Given the description of an element on the screen output the (x, y) to click on. 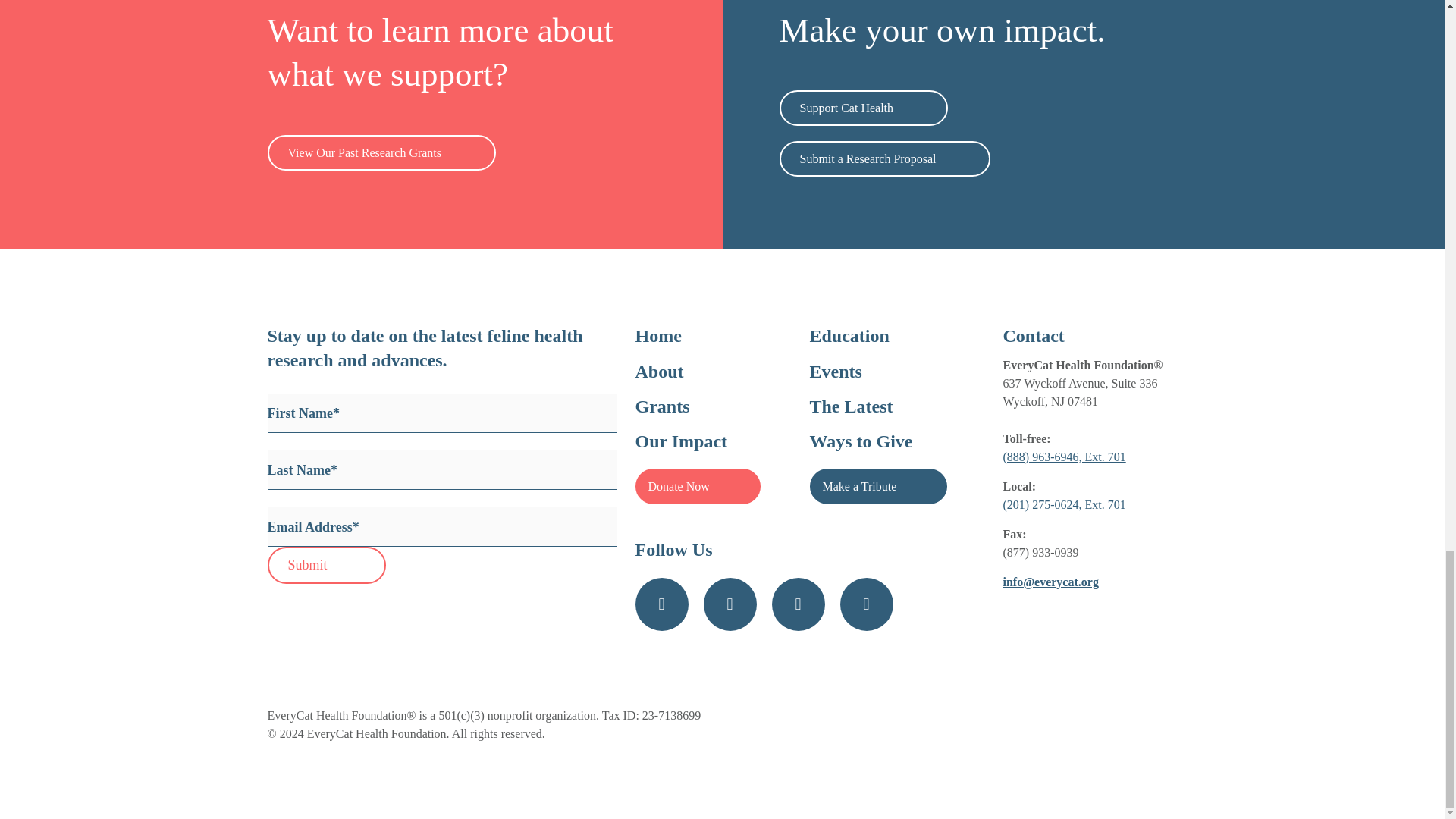
Link to Instagram (730, 604)
Link to View Our Past Research Grants (381, 152)
Link to Support Cat Health (863, 108)
Link to Submit a Research Proposal (884, 158)
Link to YouTube (798, 604)
Link to Facebook (661, 604)
